Given the description of an element on the screen output the (x, y) to click on. 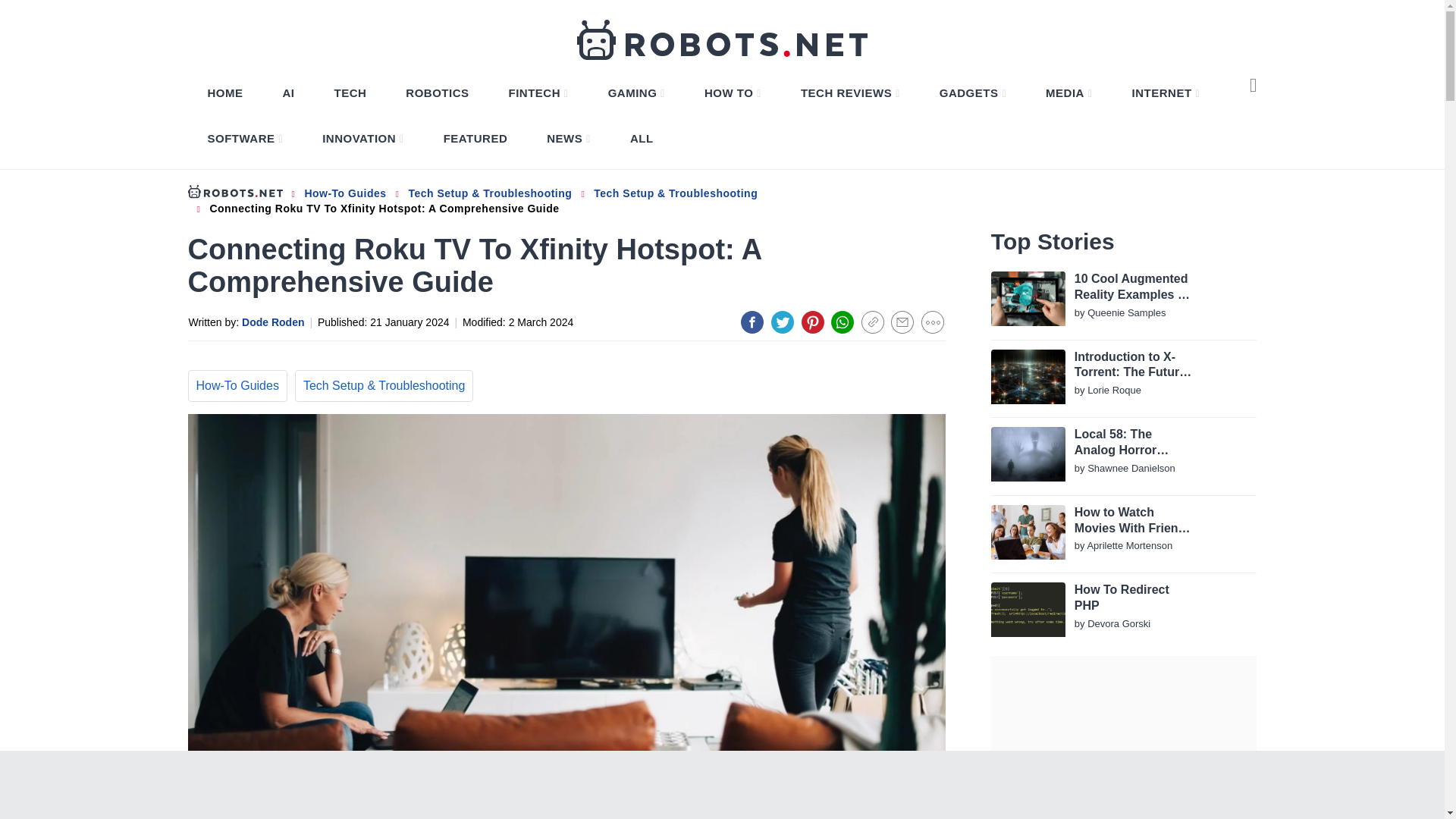
GADGETS (972, 93)
ROBOTICS (436, 93)
HOW TO (732, 93)
FINTECH (538, 93)
Copy to Clipboard (872, 322)
Share on Whatsapp (842, 322)
View Less (932, 322)
GAMING (635, 93)
MEDIA (1068, 93)
AI (288, 93)
Share on Pinterest (813, 322)
HOME (225, 93)
TECH (350, 93)
TECH REVIEWS (850, 93)
Share on facebook (751, 322)
